Given the description of an element on the screen output the (x, y) to click on. 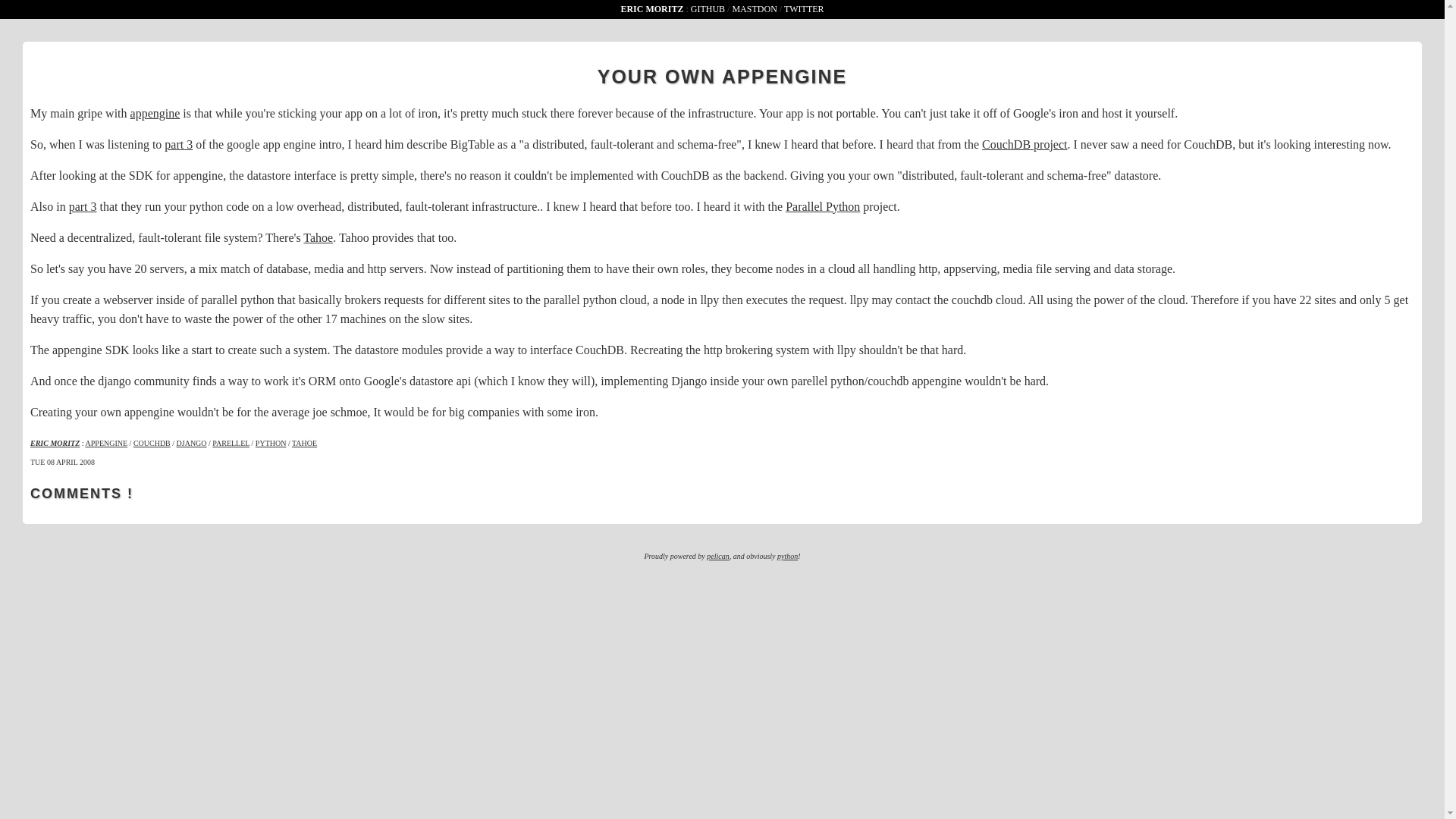
CouchDB project (1024, 144)
appengine (155, 112)
Permalink to Your own appengine (721, 76)
MASTDON (754, 9)
APPENGINE (106, 442)
Parallel Python (823, 205)
DJANGO (191, 442)
GITHUB (707, 9)
Tahoe (317, 236)
PYTHON (271, 442)
